Given the description of an element on the screen output the (x, y) to click on. 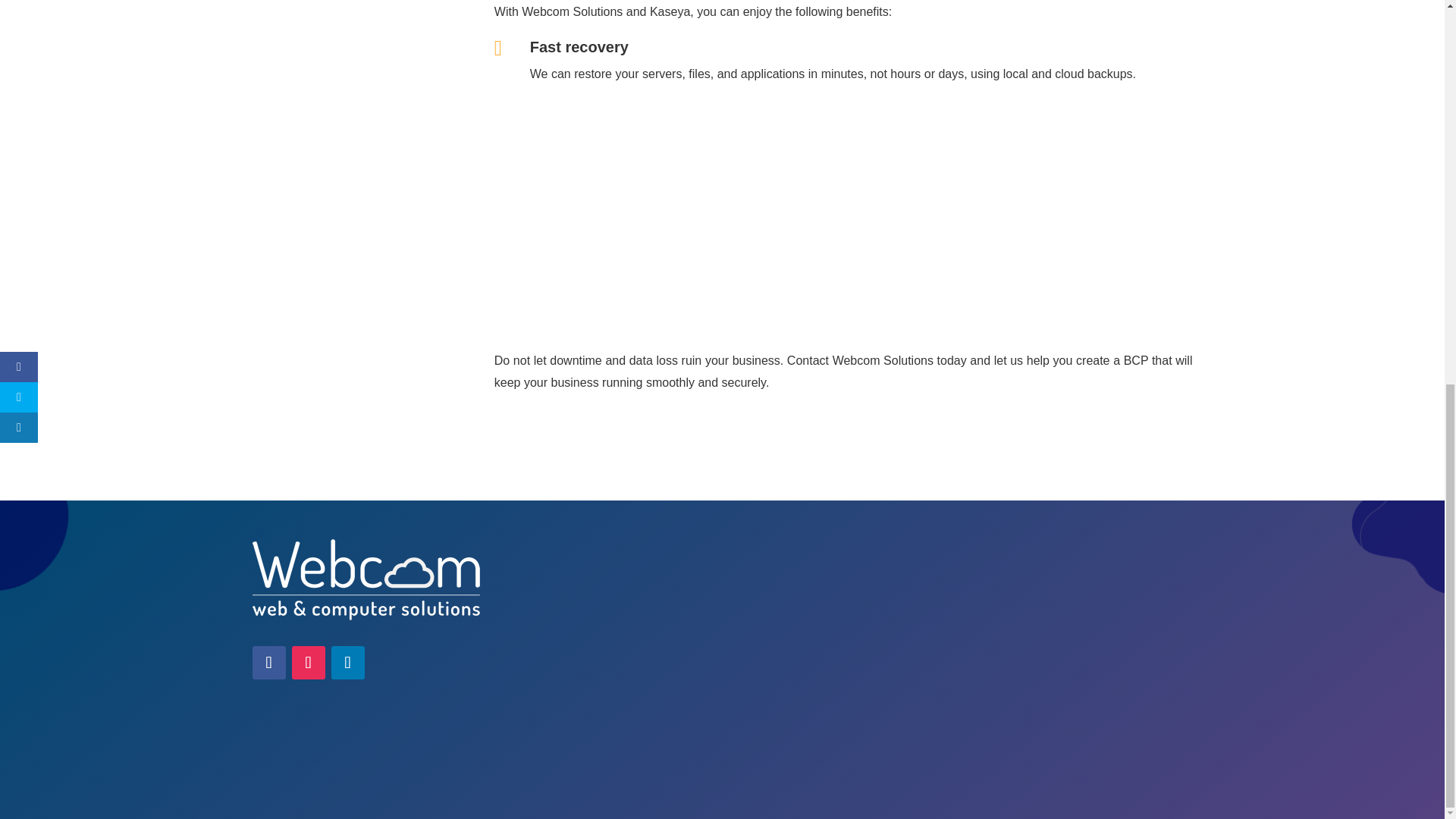
Follow on Instagram (307, 662)
Follow on LinkedIn (347, 662)
Webcom-white (365, 578)
Follow on Facebook (268, 662)
